Given the description of an element on the screen output the (x, y) to click on. 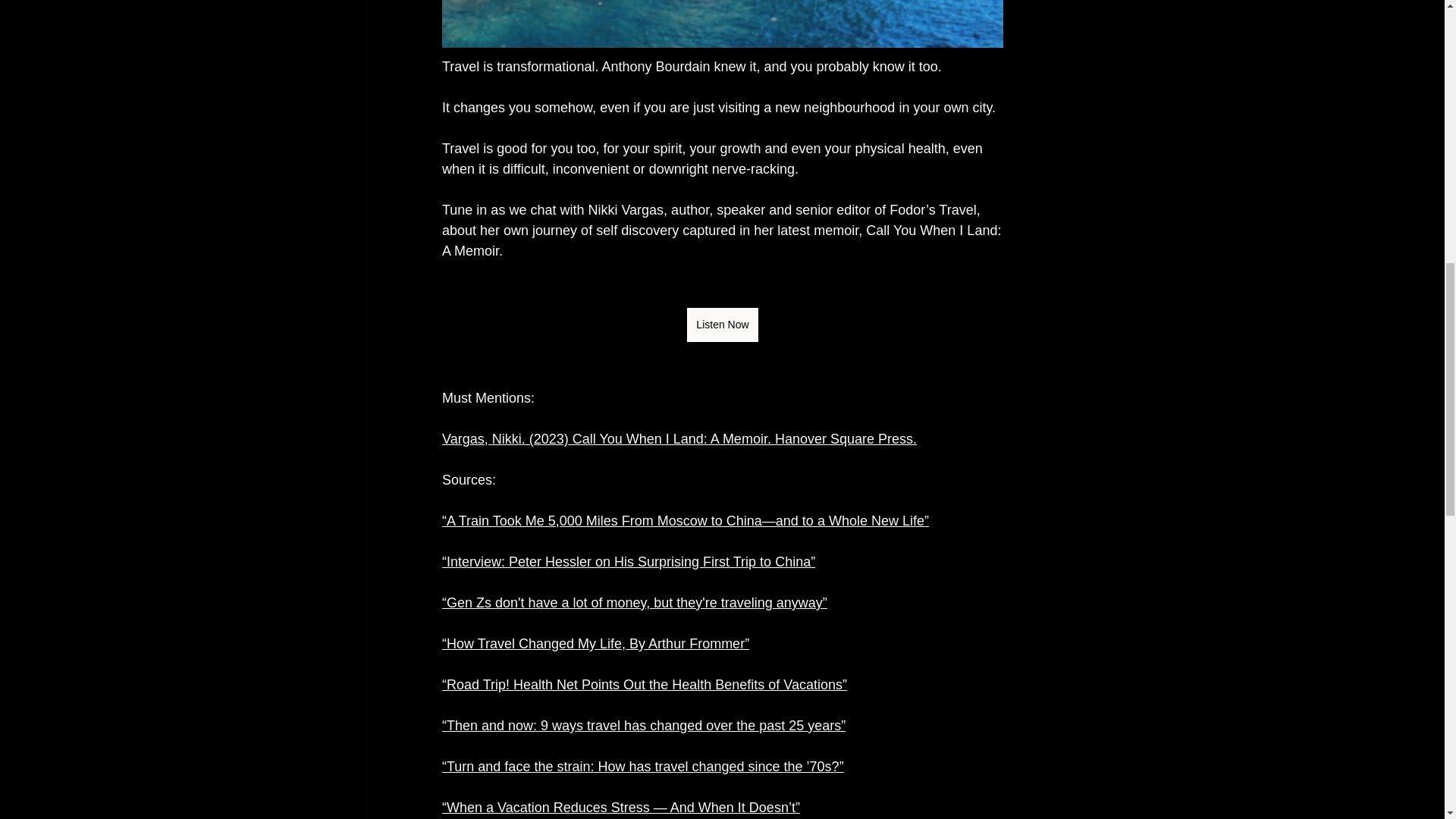
Listen Now (722, 324)
